Given the description of an element on the screen output the (x, y) to click on. 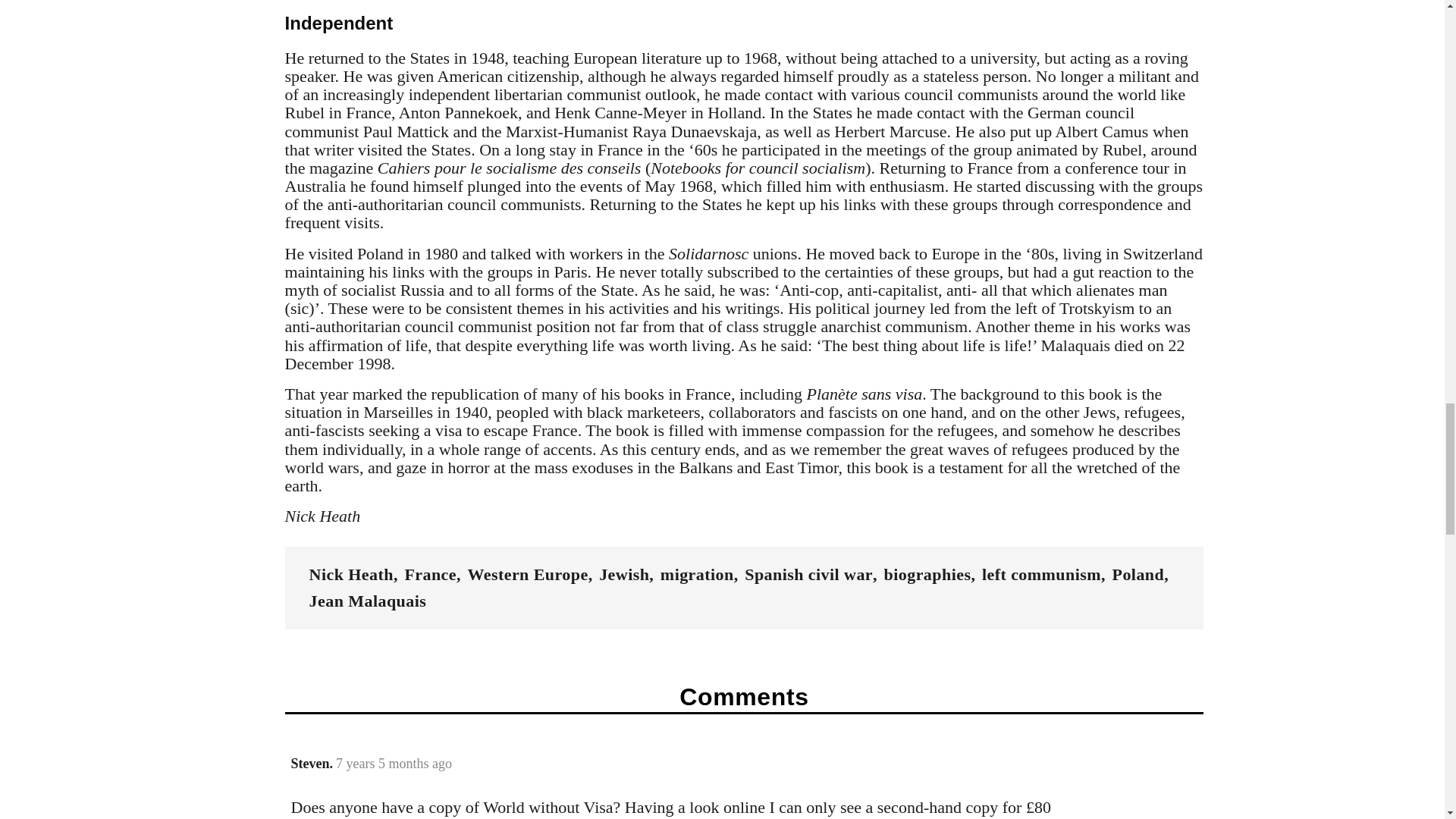
Jean Malaquais (367, 600)
left communism (1040, 574)
migration (697, 574)
Nick Heath (350, 574)
Western Europe (527, 574)
Poland (1138, 574)
Jewish (623, 574)
Spanish civil war (808, 574)
biographies (927, 574)
France (430, 574)
